Given the description of an element on the screen output the (x, y) to click on. 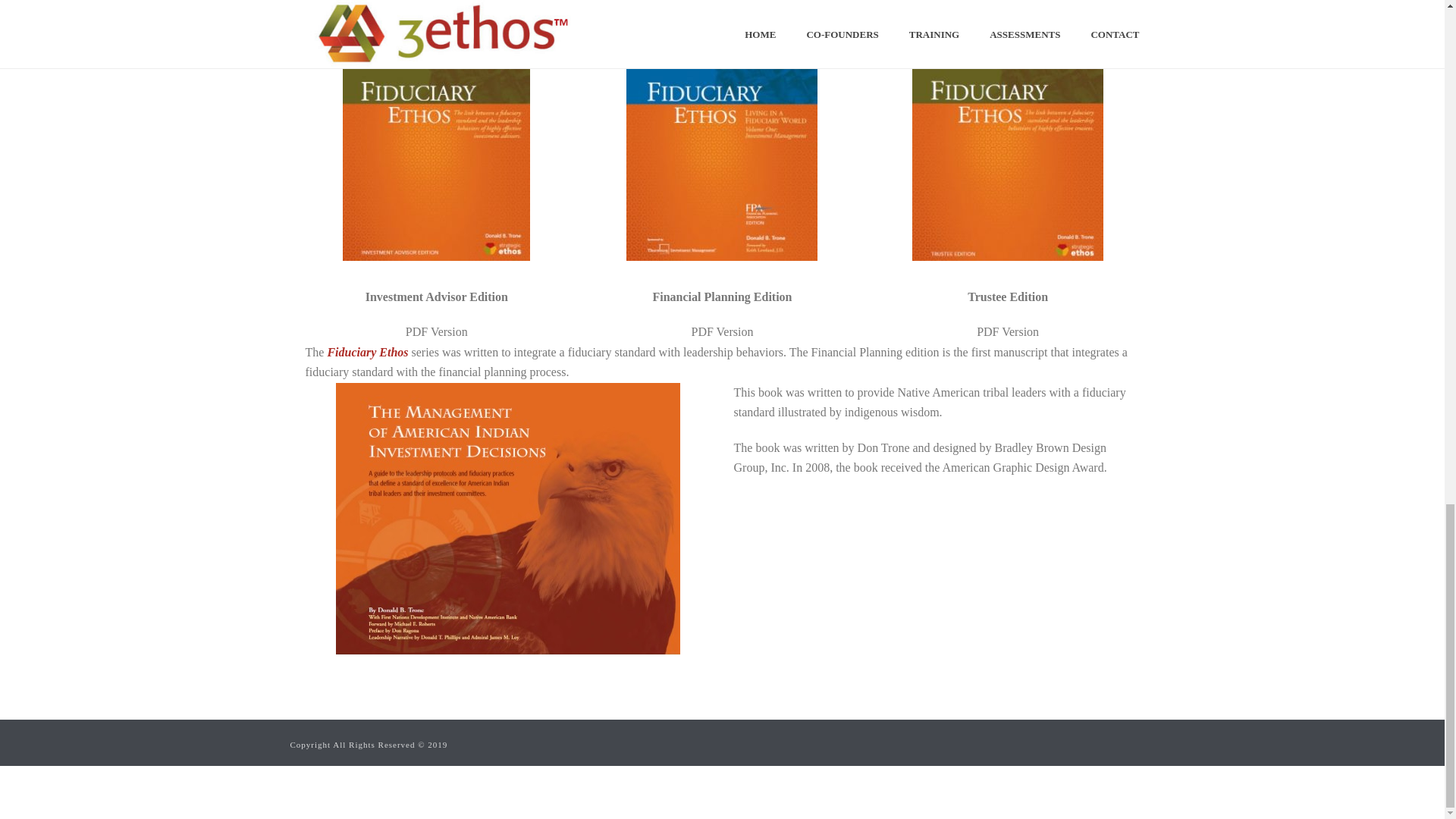
maiid (507, 519)
